Given the description of an element on the screen output the (x, y) to click on. 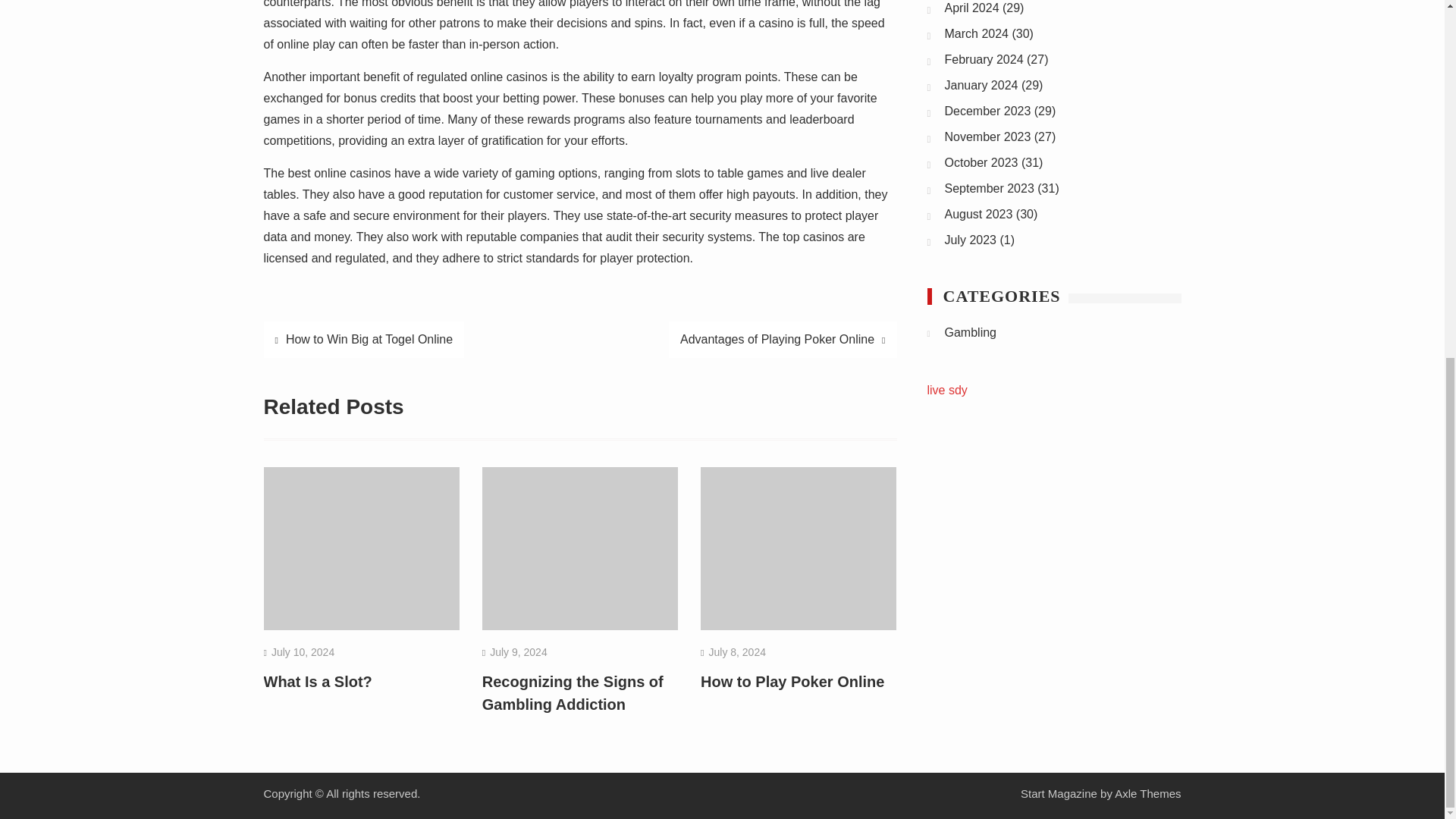
Advantages of Playing Poker Online (782, 339)
November 2023 (987, 136)
How to Win Big at Togel Online (363, 339)
February 2024 (983, 59)
January 2024 (980, 84)
April 2024 (971, 7)
September 2023 (988, 187)
What Is a Slot? (317, 681)
March 2024 (976, 33)
How to Play Poker Online (791, 681)
October 2023 (980, 162)
Recognizing the Signs of Gambling Addiction (572, 692)
August 2023 (978, 214)
December 2023 (987, 110)
